Given the description of an element on the screen output the (x, y) to click on. 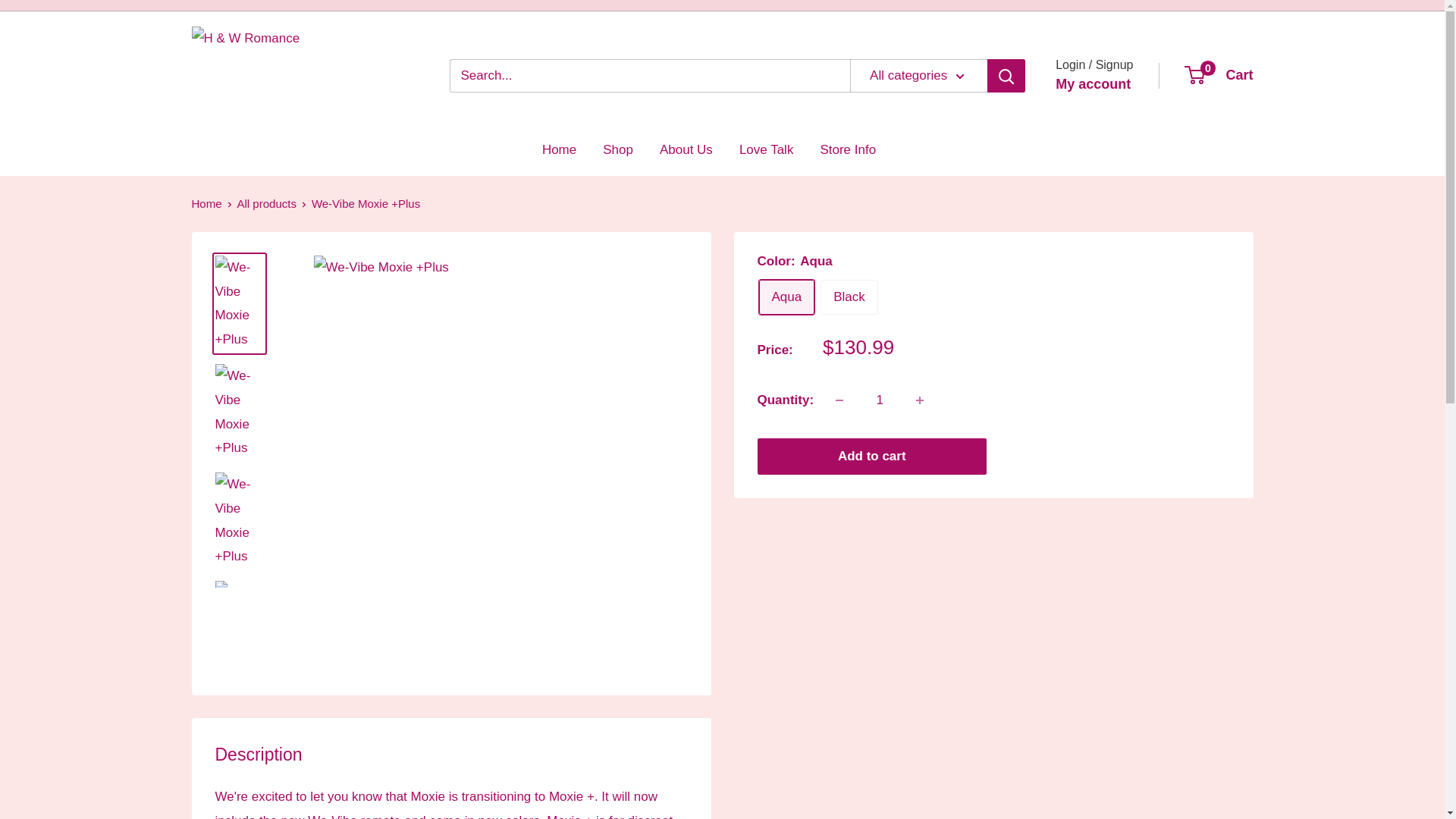
Add to cart (872, 456)
Home (558, 150)
Store Info (847, 150)
Black (849, 297)
Decrease quantity by 1 (840, 400)
1 (880, 400)
My account (1093, 84)
Home (205, 203)
All products (267, 203)
Increase quantity by 1 (920, 400)
